Given the description of an element on the screen output the (x, y) to click on. 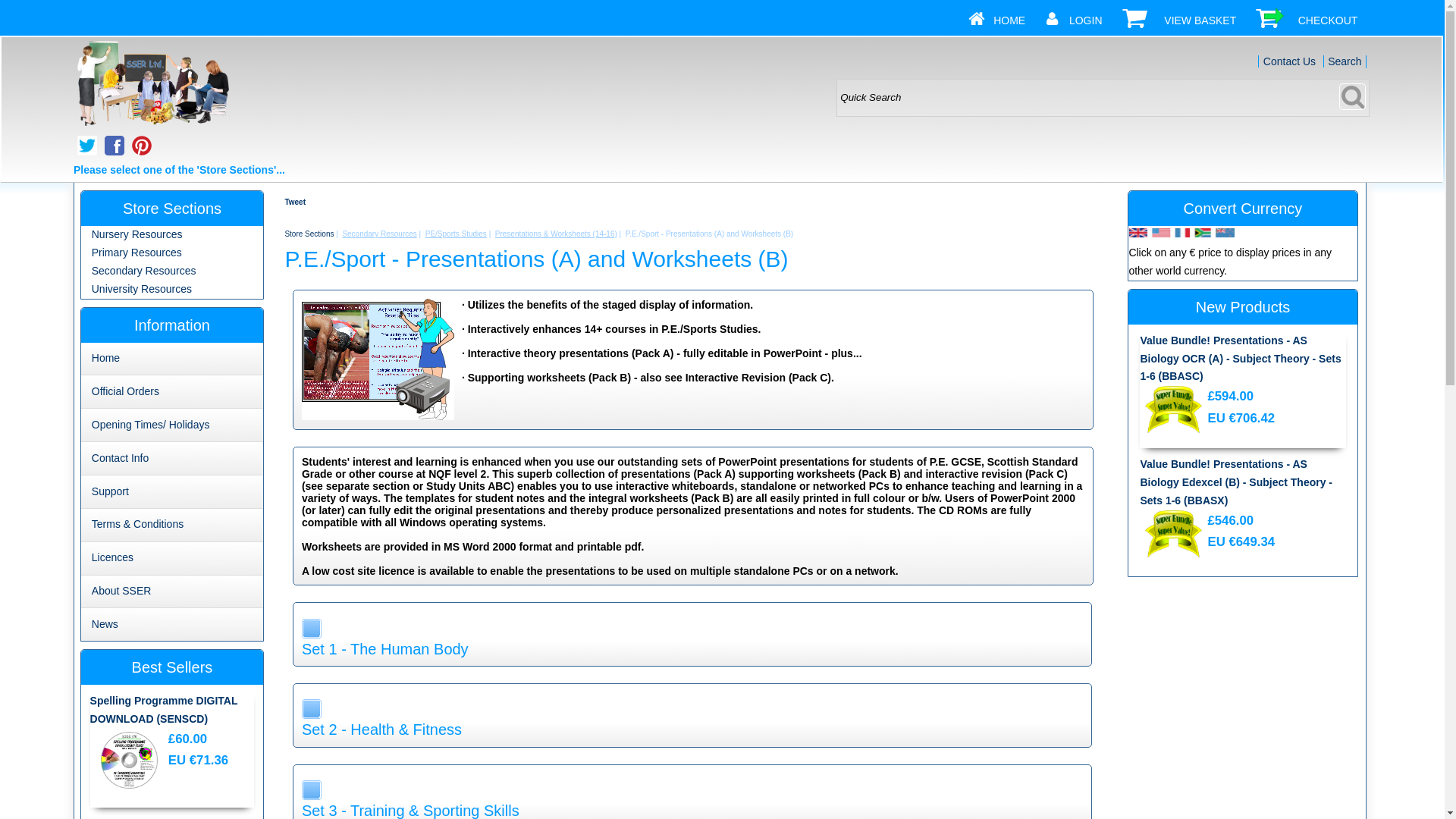
Quick Search (1102, 97)
Quick Search (1102, 97)
Nursery Resources (137, 234)
Go! (1352, 96)
CHECKOUT (1328, 20)
Set 1 - The Human Body (692, 648)
Go! (1352, 96)
Search (1344, 61)
Store Sections (308, 234)
Official Orders (124, 390)
SSER Ltd. Store Sections (152, 83)
Secondary Resources (143, 270)
Contact Us (1289, 61)
